Given the description of an element on the screen output the (x, y) to click on. 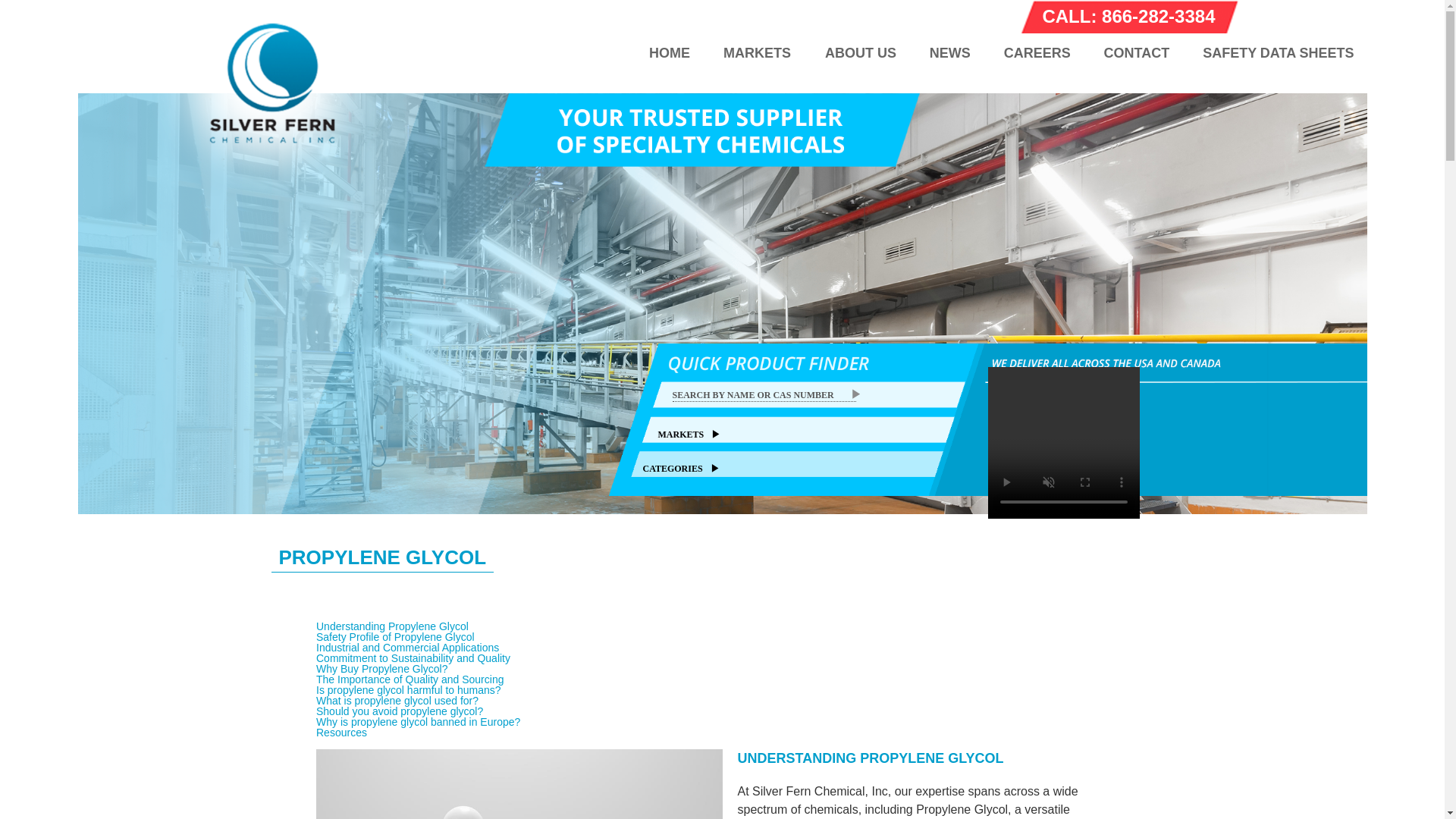
Silver Fern Chemical Inc. (268, 202)
CAREERS (1037, 52)
SAFETY DATA SHEETS (1271, 52)
ABOUT US (860, 52)
HOME (668, 52)
NEWS (949, 52)
MARKETS (756, 52)
CONTACT (1137, 52)
CALL: 866-282-3384 (1128, 16)
